Given the description of an element on the screen output the (x, y) to click on. 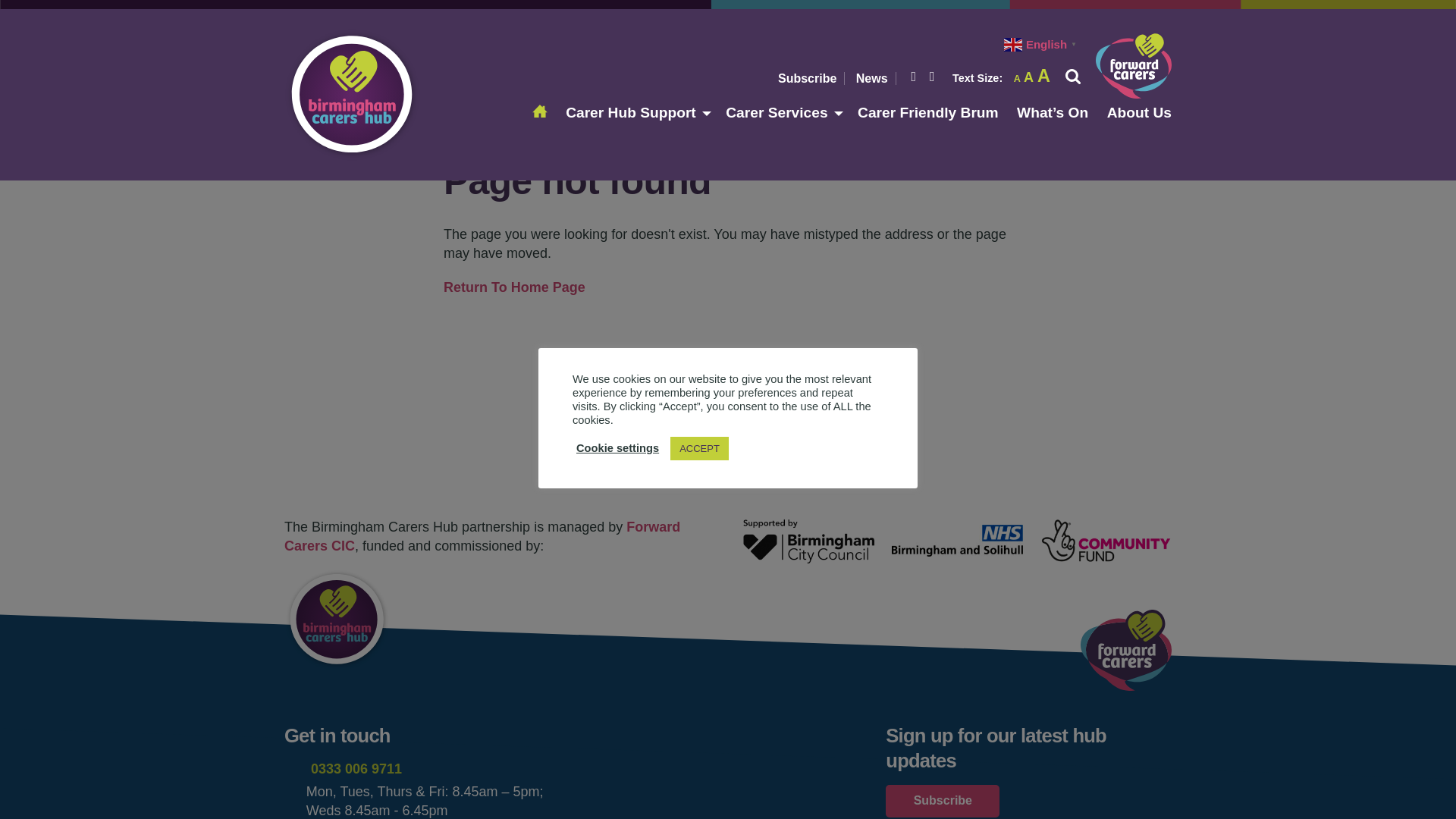
Subscribe (1016, 78)
Decrease font size (807, 78)
News (1028, 77)
Increase font size (1042, 75)
Reset font size (1016, 78)
Search (872, 78)
